Given the description of an element on the screen output the (x, y) to click on. 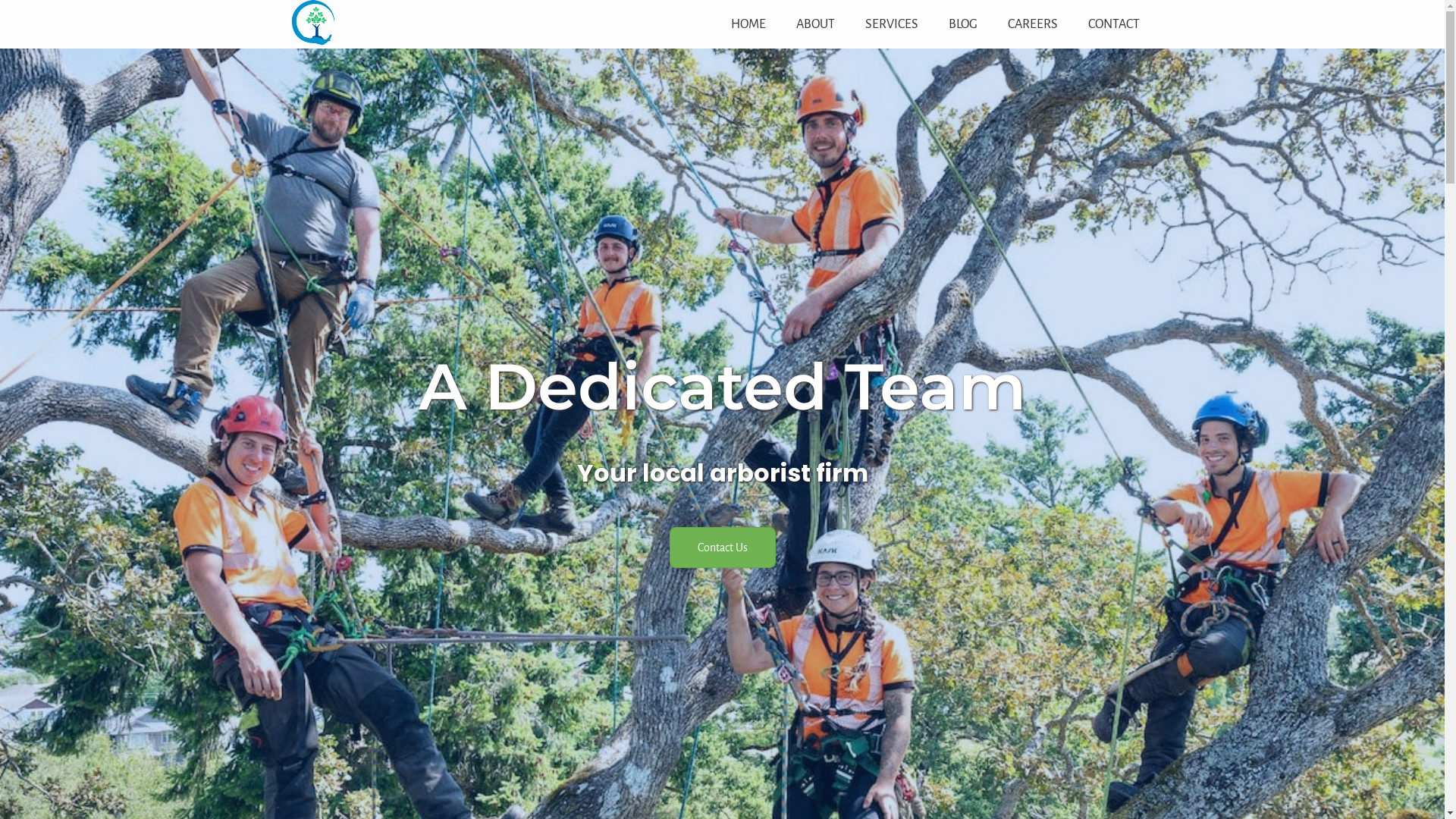
CAREERS Element type: text (1031, 23)
HOME Element type: text (748, 23)
Skip to main content Element type: text (0, 0)
CONTACT Element type: text (1113, 23)
BLOG Element type: text (961, 23)
Advantage Tree Care Element type: hover (312, 22)
Advantage Tree Care Element type: hover (312, 41)
ABOUT Element type: text (815, 23)
Contact Us Element type: text (721, 547)
SERVICES Element type: text (890, 23)
